Given the description of an element on the screen output the (x, y) to click on. 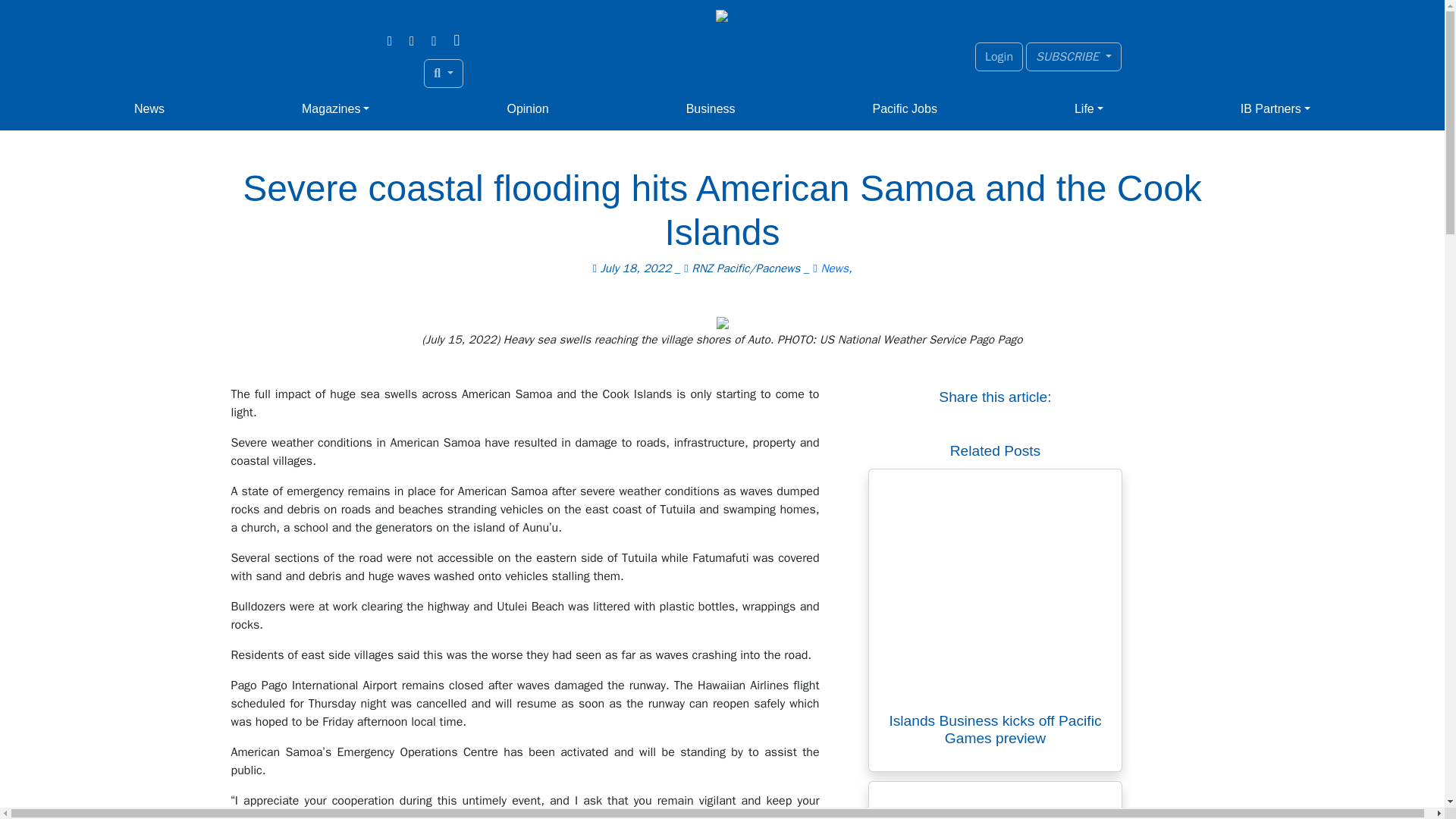
News (149, 109)
Life (1088, 109)
Opinion (527, 109)
Magazines (335, 109)
Login (999, 56)
Login (999, 56)
IB Partners (1275, 109)
Pacific Jobs (904, 109)
SUBSCRIBE (1073, 56)
Business (710, 109)
